Given the description of an element on the screen output the (x, y) to click on. 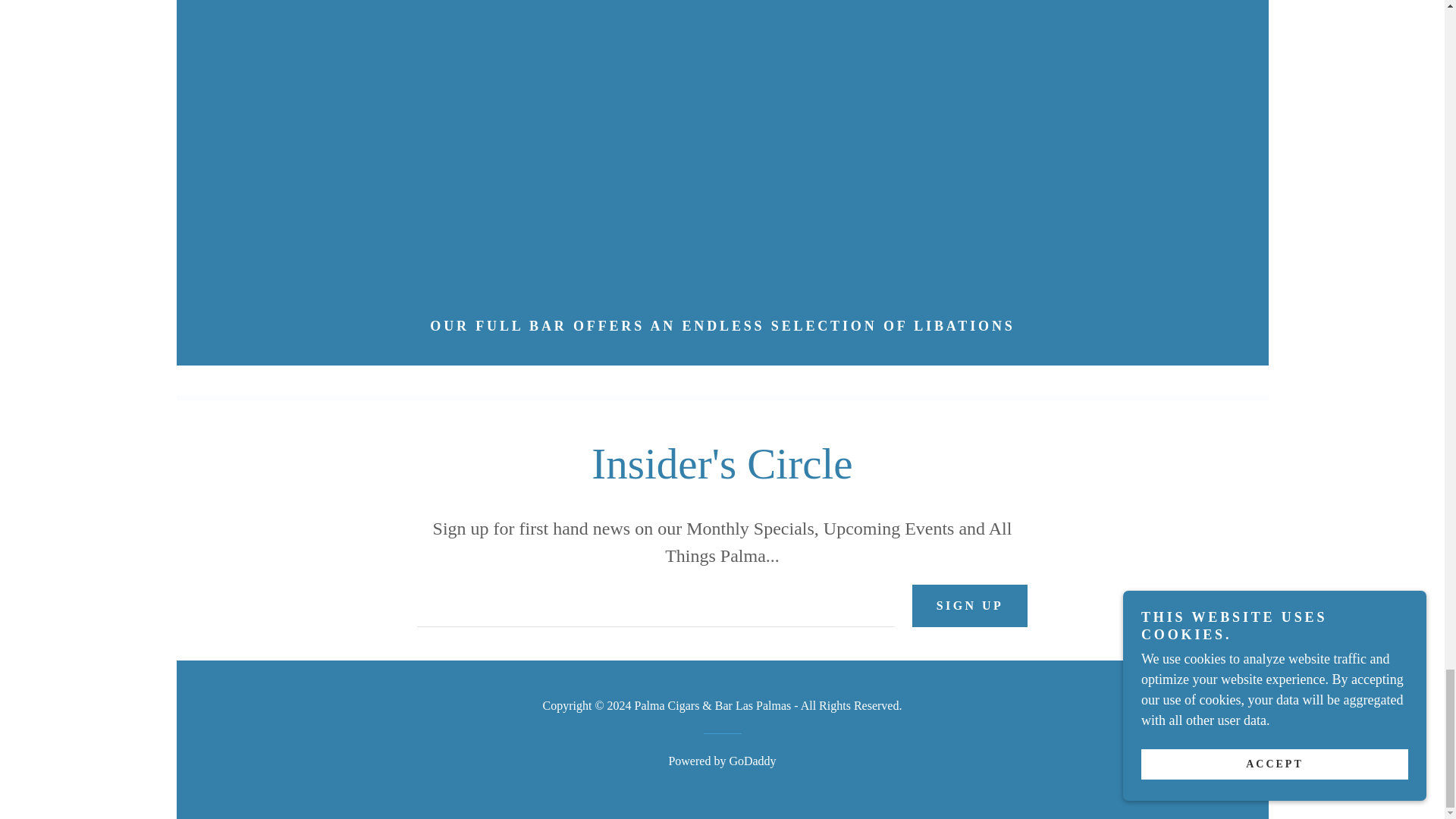
GoDaddy (752, 760)
SIGN UP (969, 605)
